Given the description of an element on the screen output the (x, y) to click on. 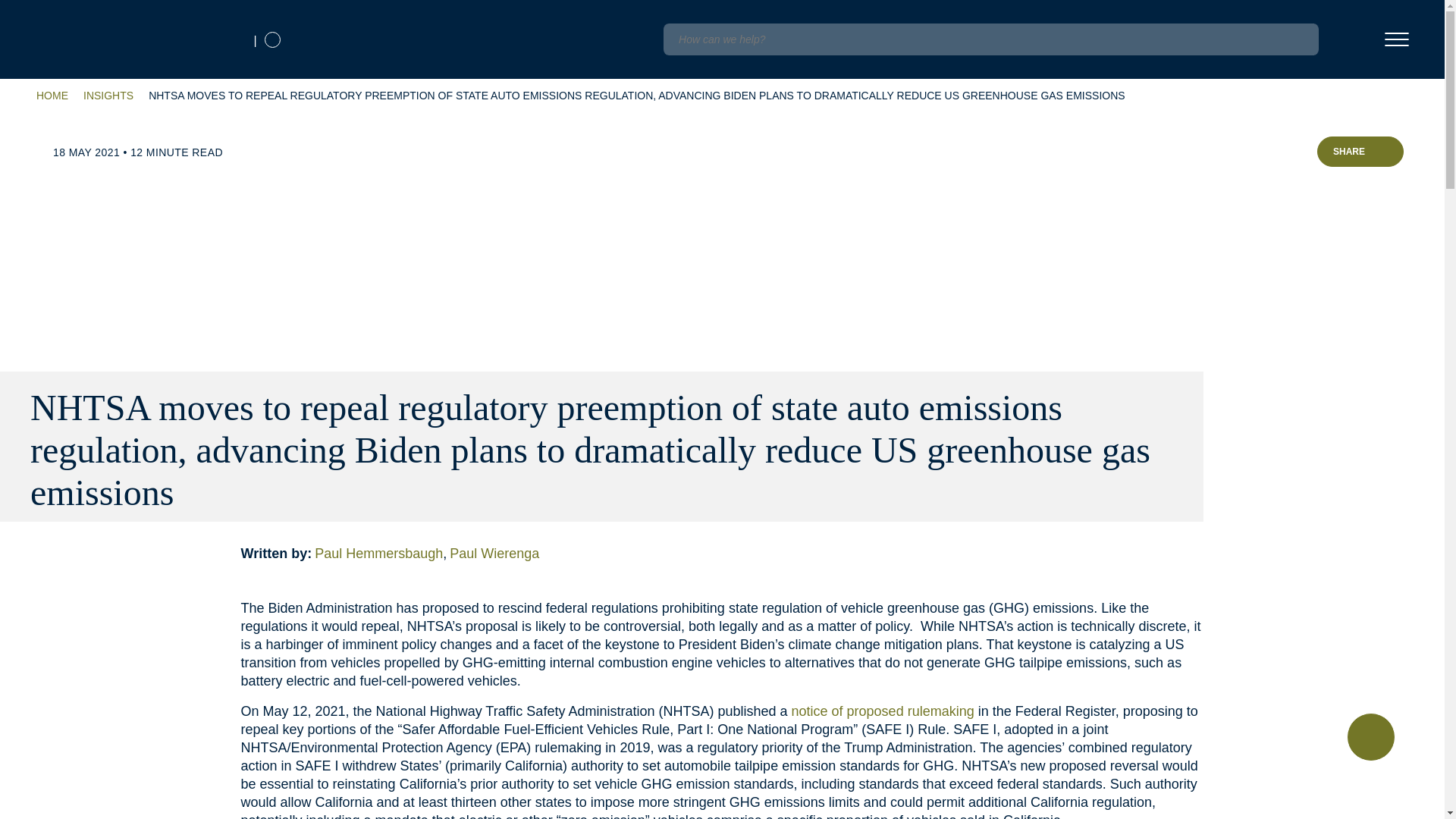
Paul Hemmersbaugh (381, 553)
notice of proposed rulemaking (883, 711)
HOME (52, 95)
INSIGHTS (107, 95)
Insert a query. Press enter to send (990, 39)
Paul Wierenga (495, 553)
